Given the description of an element on the screen output the (x, y) to click on. 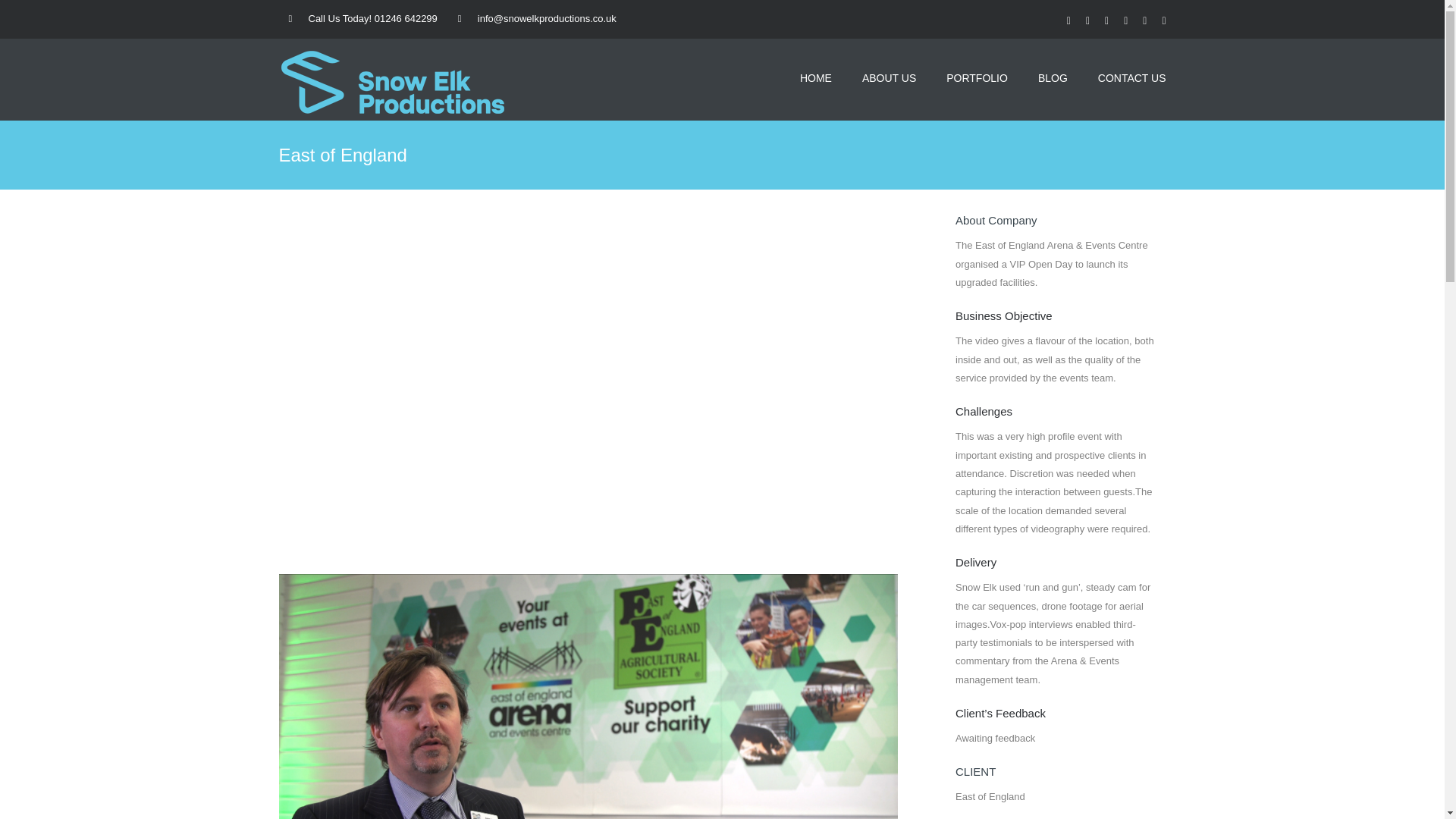
YouTube (1144, 20)
Vimeo (1163, 20)
PORTFOLIO (976, 77)
ABOUT US (888, 77)
Call Us Today! 01246 642299 (362, 18)
BLOG (1052, 77)
CONTACT US (1131, 77)
HOME (815, 77)
